Given the description of an element on the screen output the (x, y) to click on. 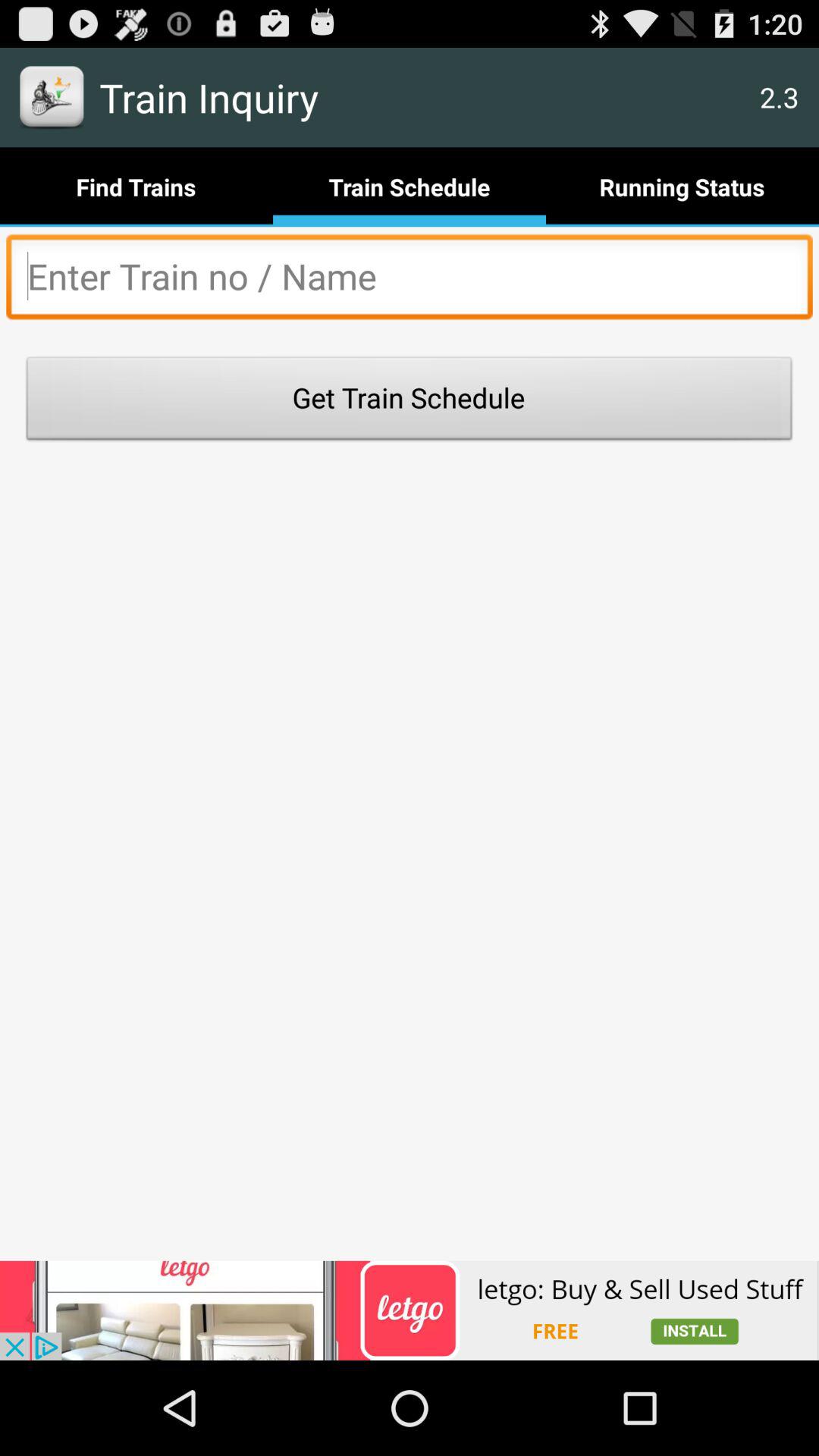
enter train name and number (409, 280)
